Given the description of an element on the screen output the (x, y) to click on. 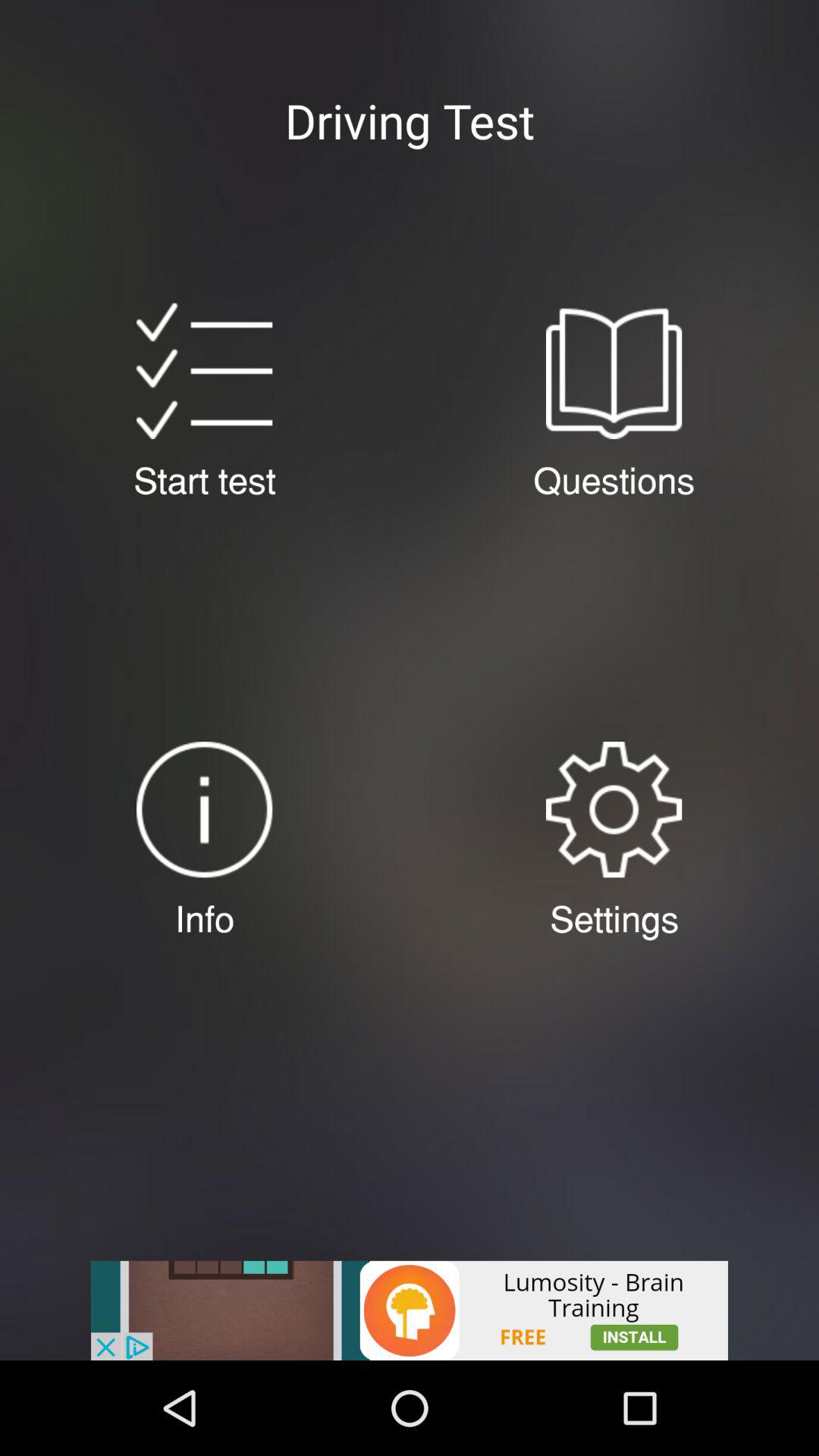
start test (204, 371)
